Given the description of an element on the screen output the (x, y) to click on. 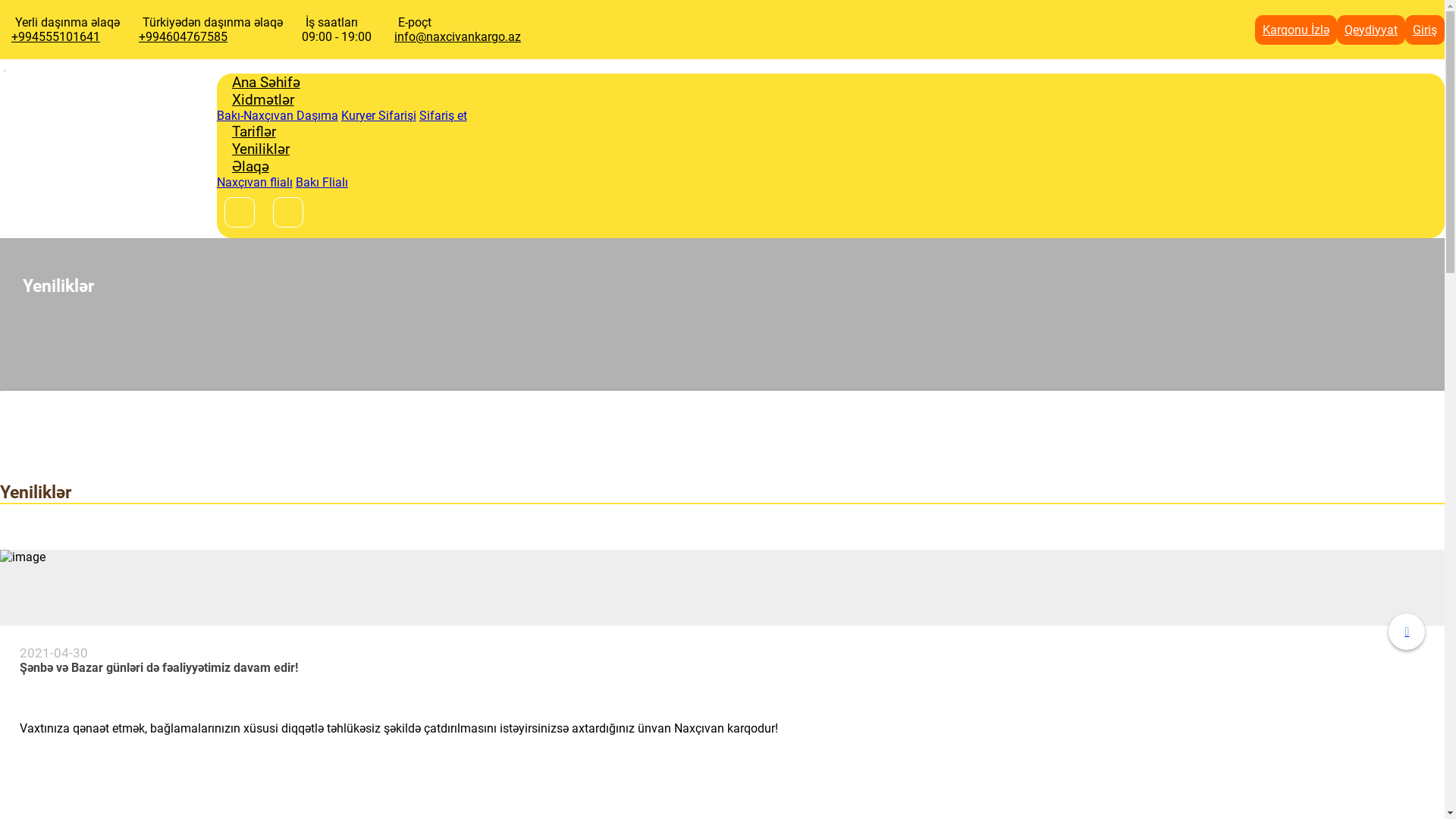
+994555101641 Element type: text (55, 36)
info@naxcivankargo.az Element type: text (457, 36)
+994604767585 Element type: text (182, 36)
Qeydiyyat Element type: text (1370, 29)
